Given the description of an element on the screen output the (x, y) to click on. 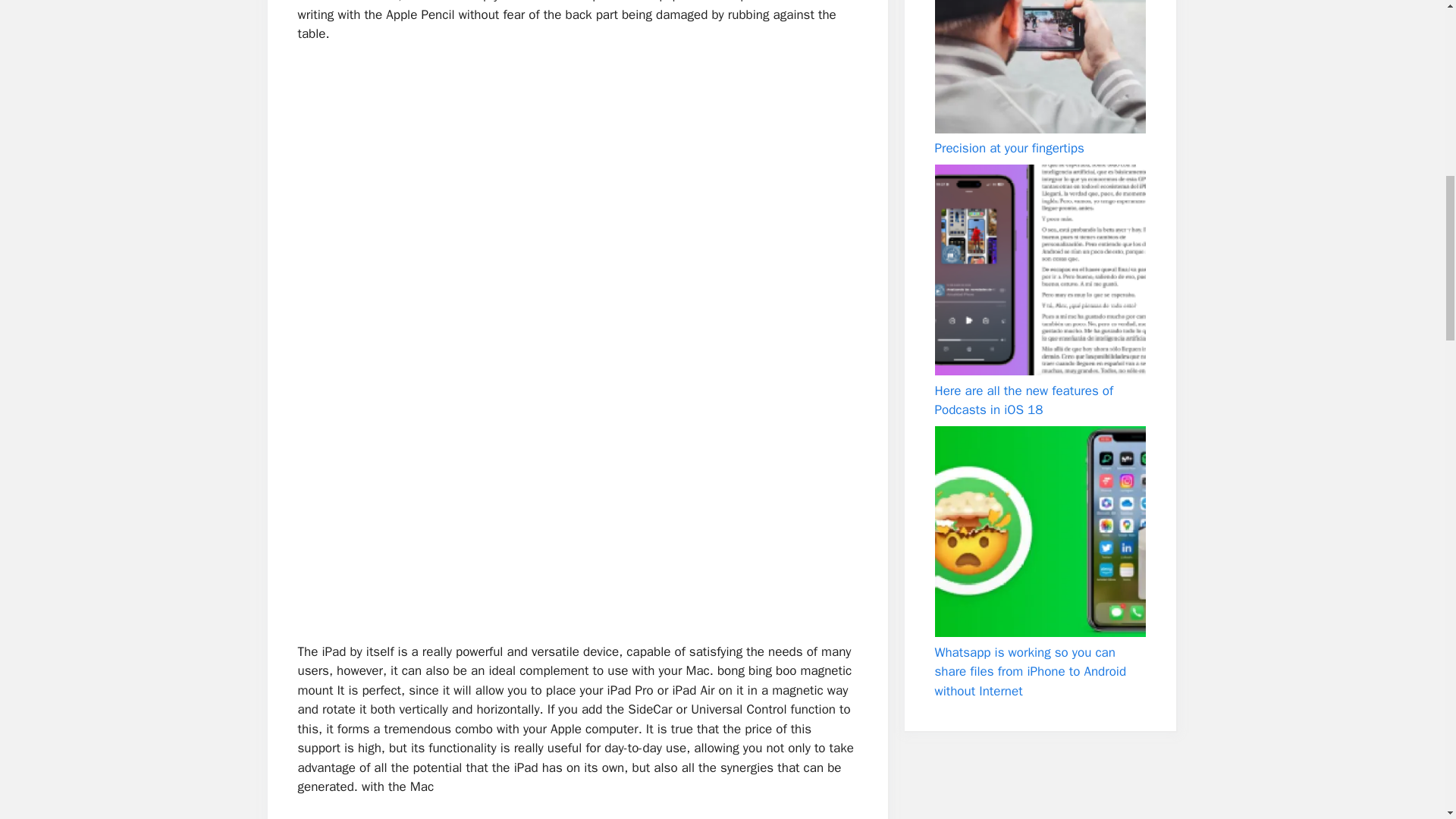
Scroll back to top (1406, 720)
Precision at your fingertips (1008, 148)
Here are all the new features of Podcasts in iOS 18 (1023, 399)
Precision at your fingertips (1039, 66)
Here are all the new features of Podcasts in iOS 18 (1039, 269)
